Given the description of an element on the screen output the (x, y) to click on. 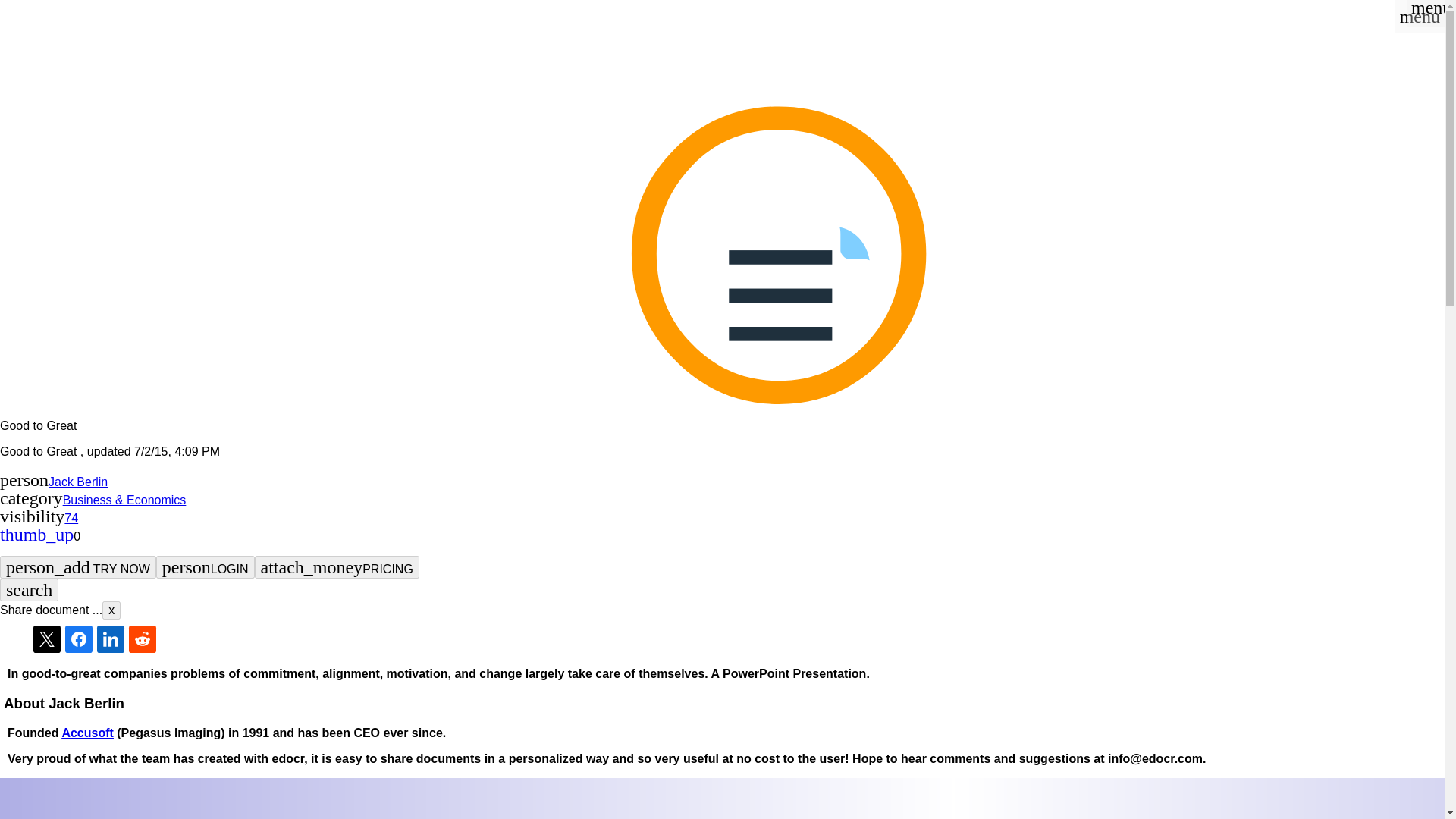
search (29, 589)
74 (71, 517)
x (110, 610)
Accusoft (87, 732)
personLOGIN (204, 567)
Jack Berlin (77, 481)
